Given the description of an element on the screen output the (x, y) to click on. 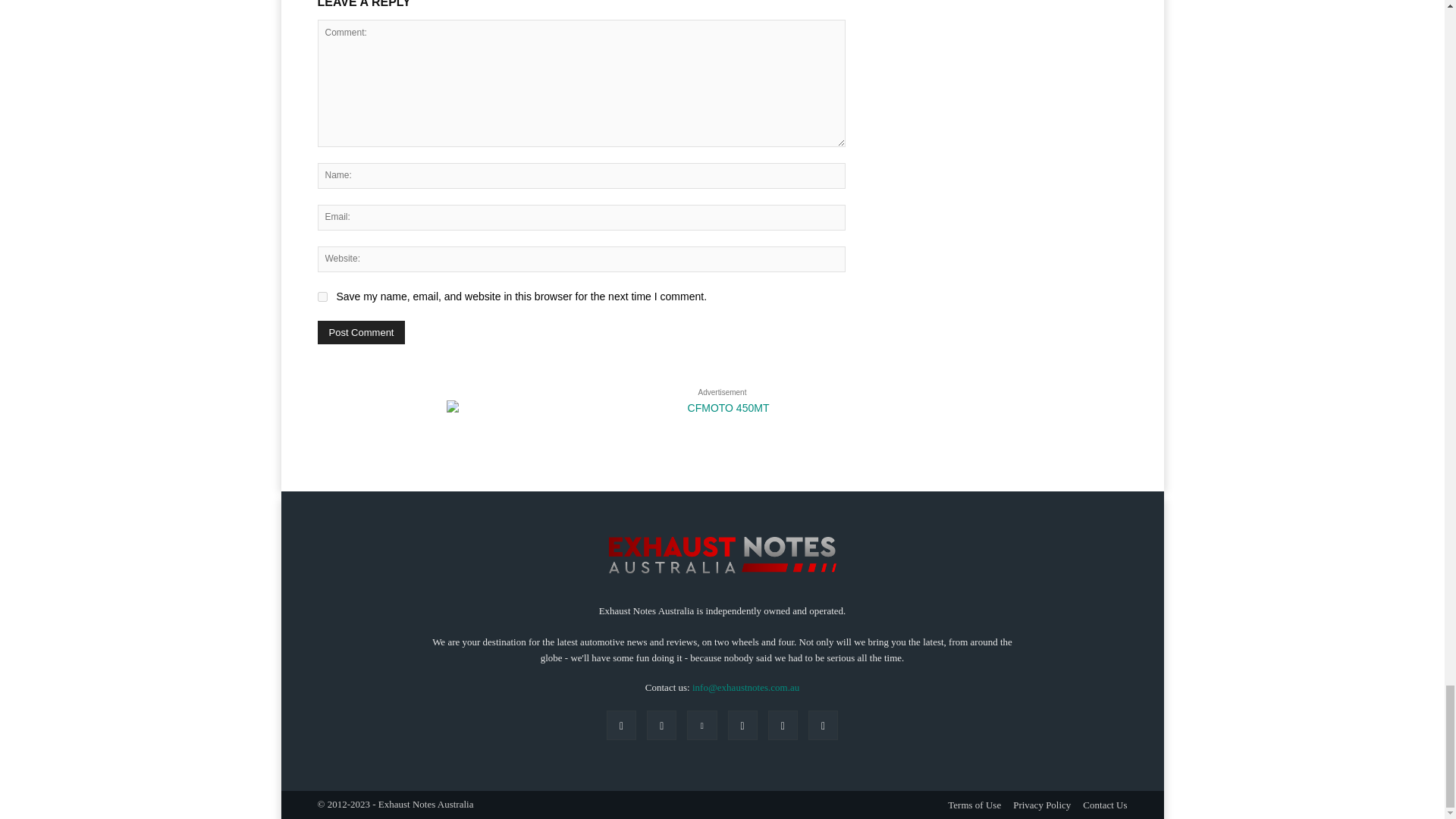
yes (321, 296)
Post Comment (360, 332)
